Given the description of an element on the screen output the (x, y) to click on. 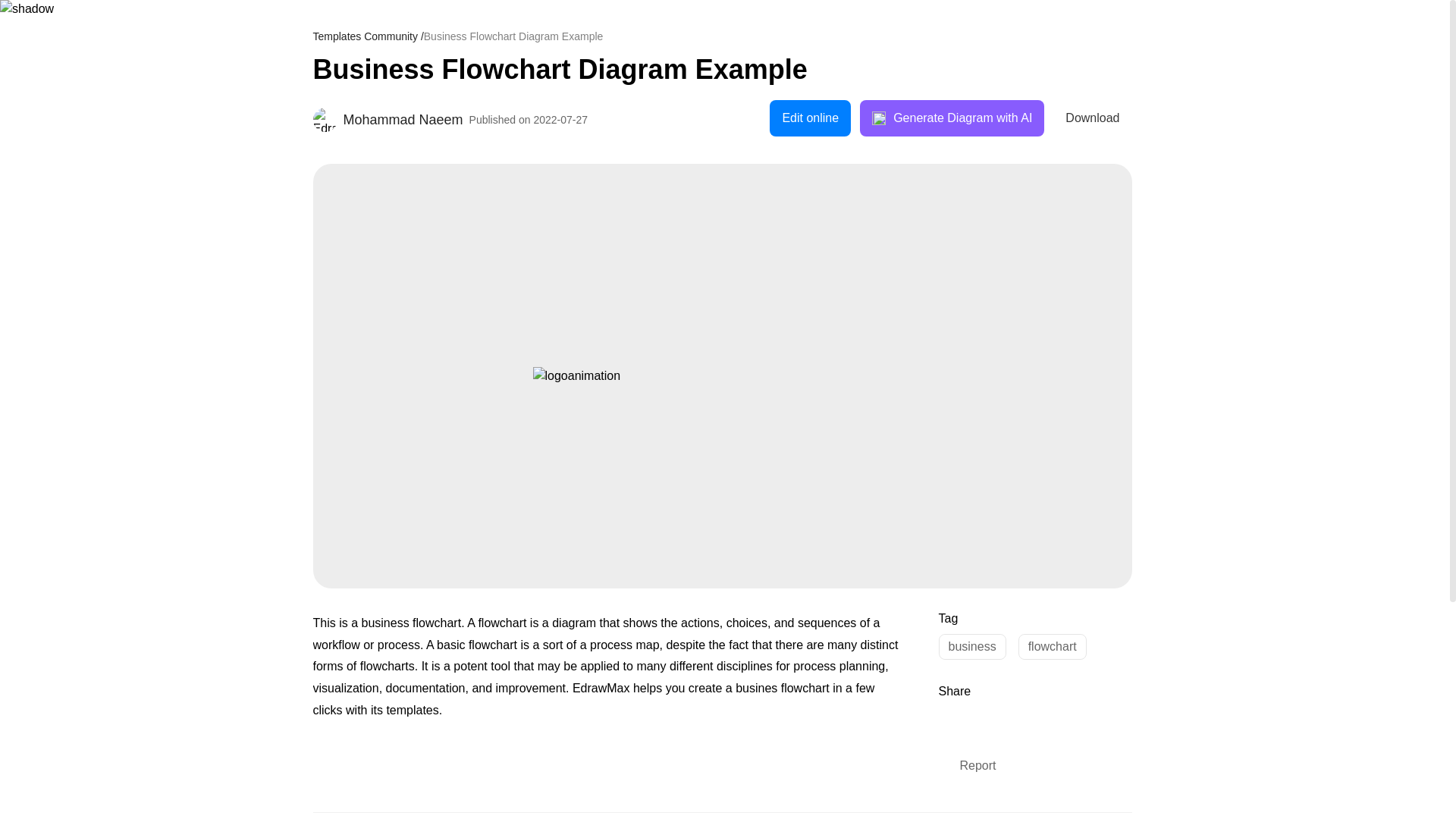
Download (1091, 117)
Business Flowchart Diagram Example (722, 69)
flowchart (1051, 646)
business (972, 646)
